Given the description of an element on the screen output the (x, y) to click on. 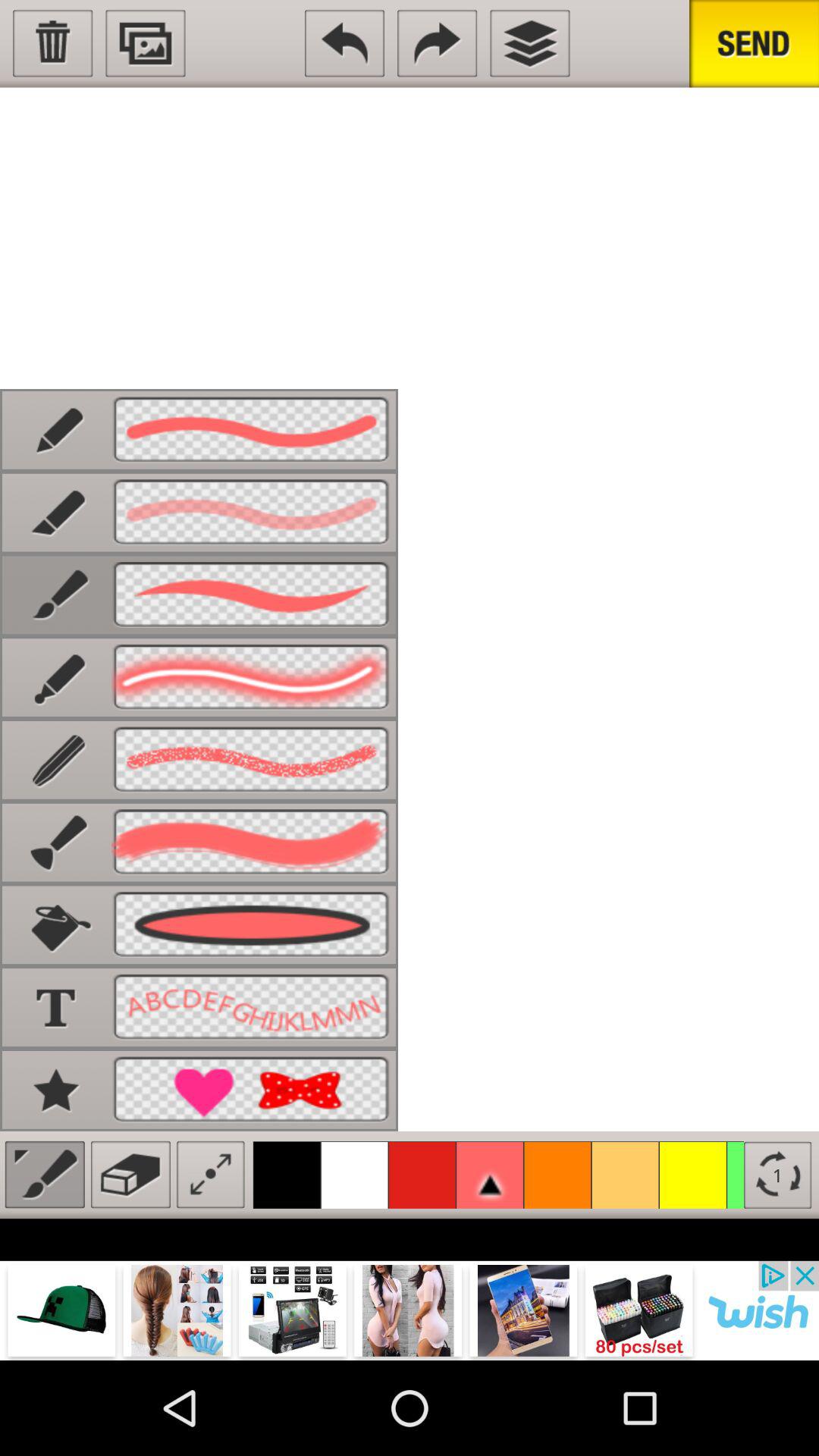
select eraser (130, 1174)
